Given the description of an element on the screen output the (x, y) to click on. 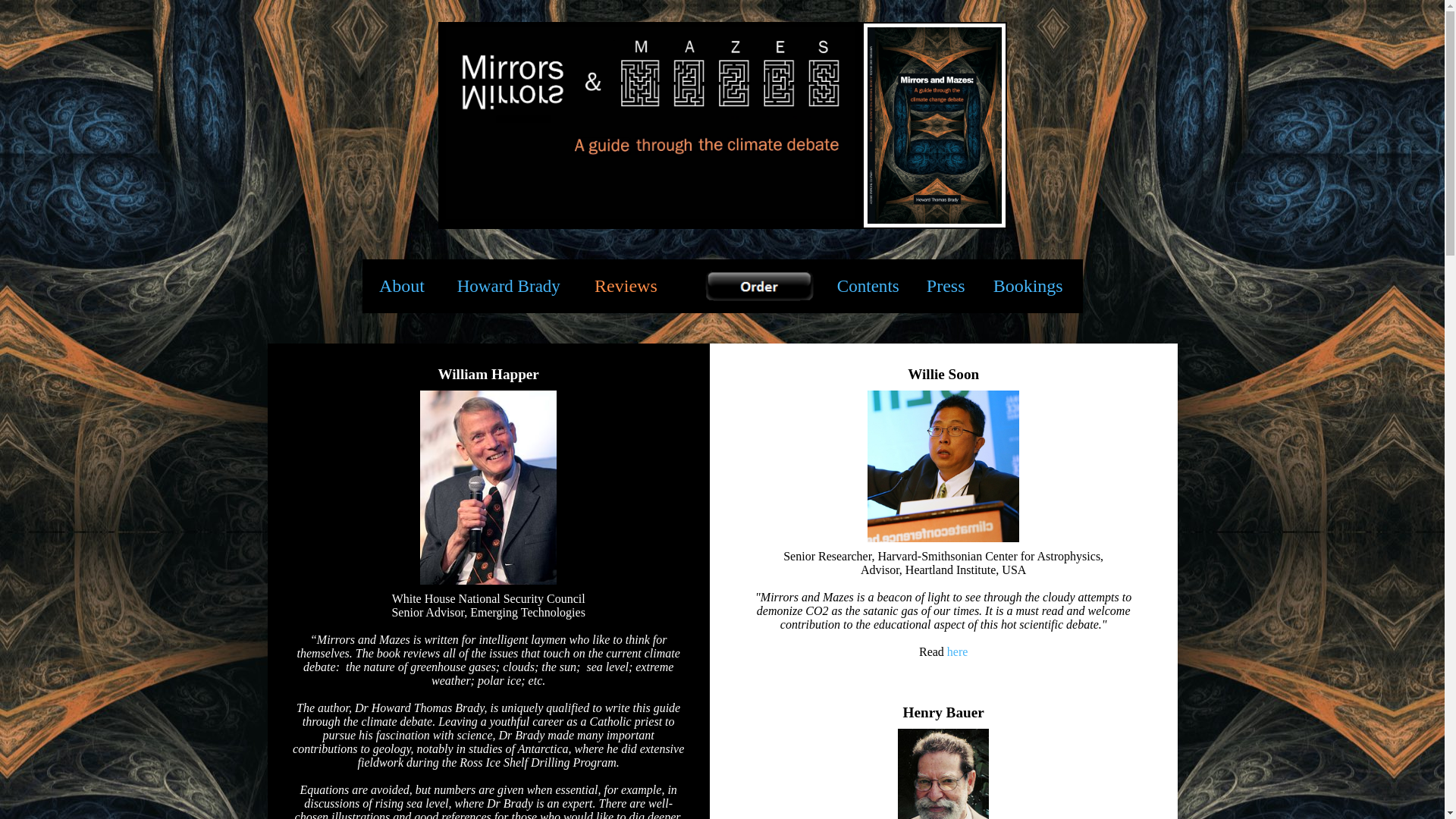
Reviews Element type: text (625, 285)
here Element type: text (957, 651)
Contents Element type: text (868, 287)
About Element type: text (401, 287)
Howard Brady Element type: text (508, 287)
Press Element type: text (945, 287)
Bookings Element type: text (1028, 287)
